Given the description of an element on the screen output the (x, y) to click on. 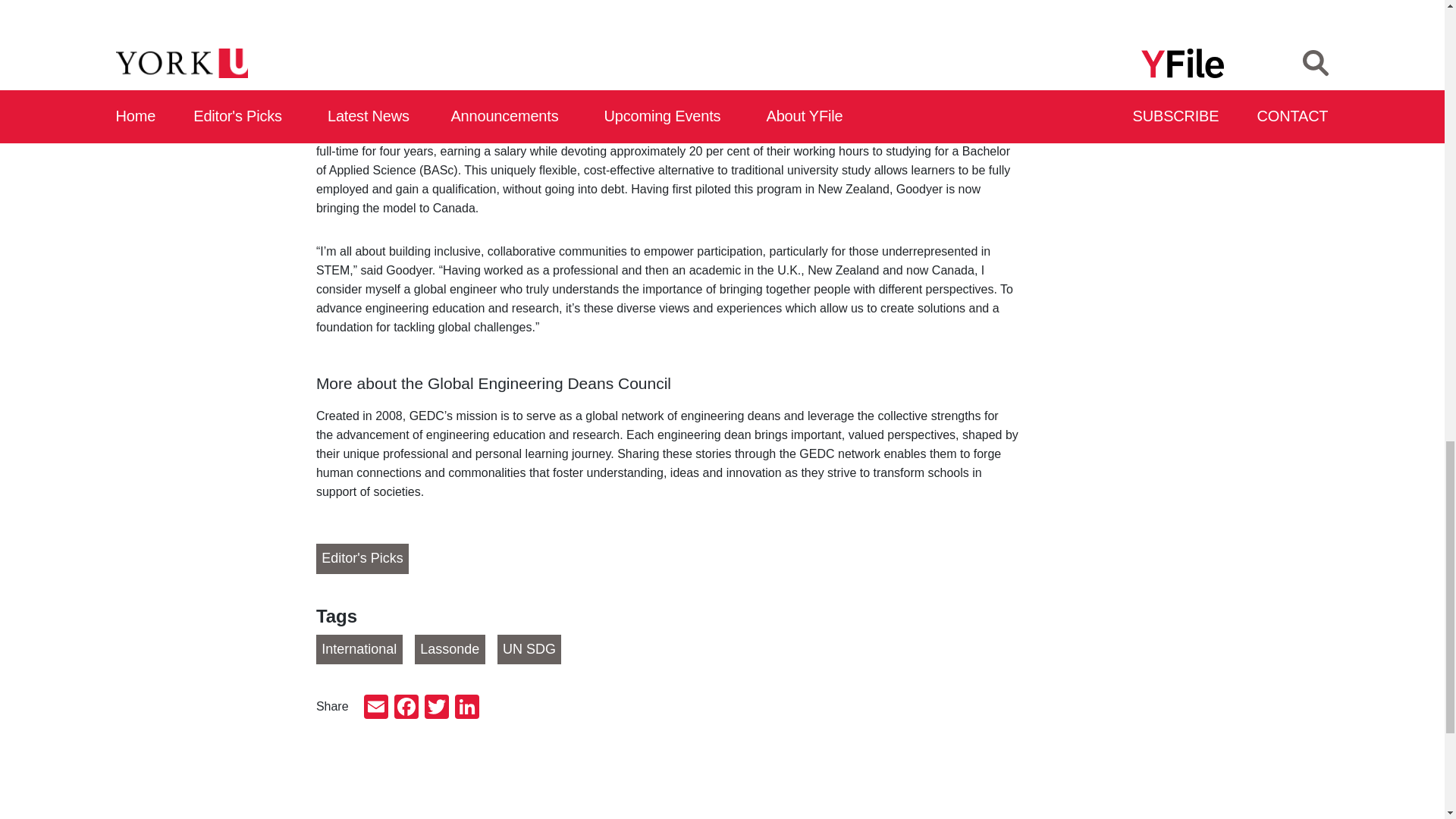
Editor's Picks (362, 558)
Email (376, 708)
Digital Technologies (531, 132)
Lassonde (449, 649)
LinkedIn (466, 708)
Twitter (436, 708)
Facebook (406, 708)
International (359, 649)
